Given the description of an element on the screen output the (x, y) to click on. 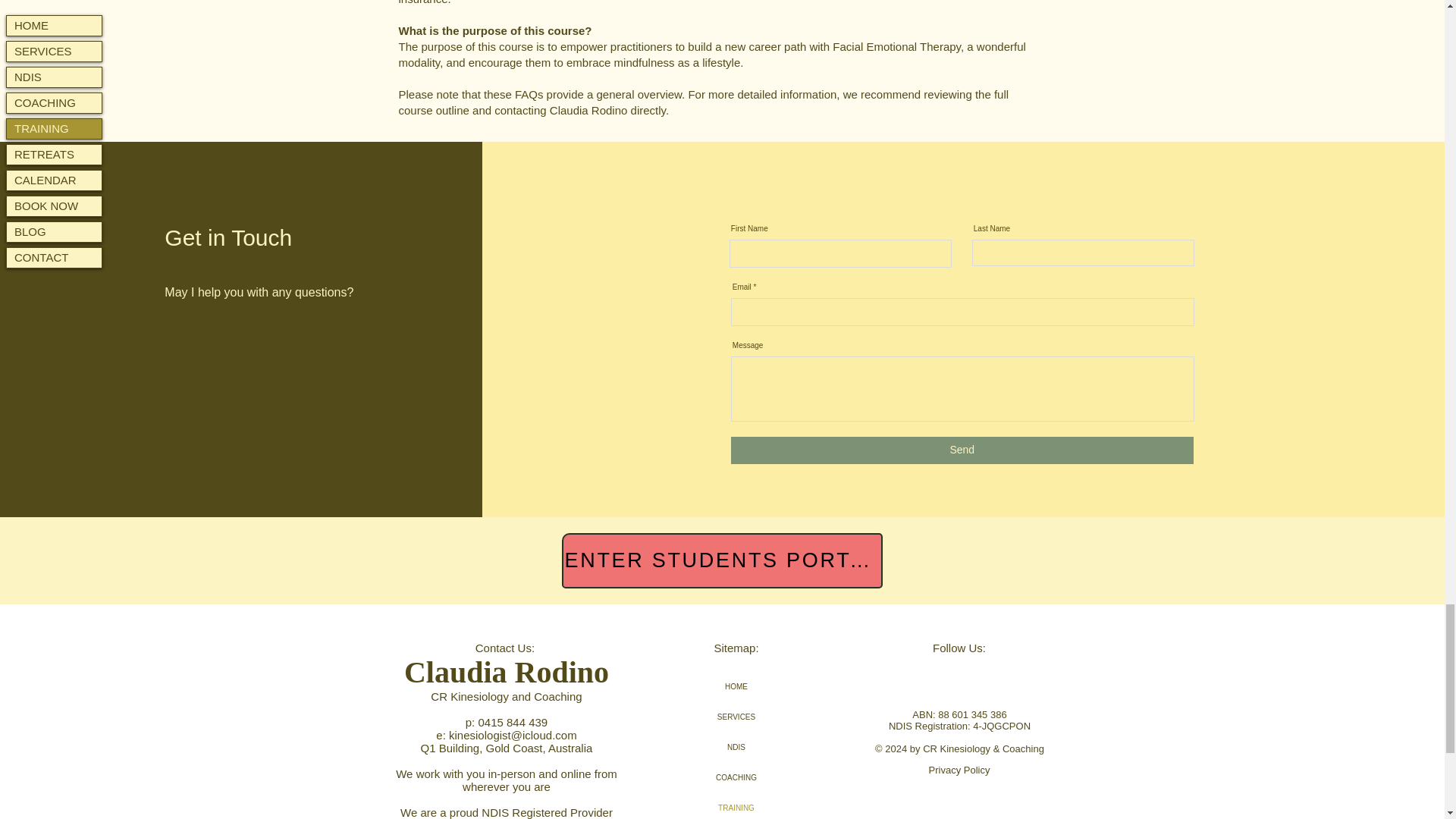
Send (961, 450)
CR Kinesiology and Coaching (505, 696)
ENTER STUDENTS PORTAL (721, 560)
Contact Us:  (507, 647)
NDIS (736, 747)
SERVICES (736, 716)
HOME (736, 686)
Claudia Rodino (506, 672)
Sitemap: (735, 647)
